Given the description of an element on the screen output the (x, y) to click on. 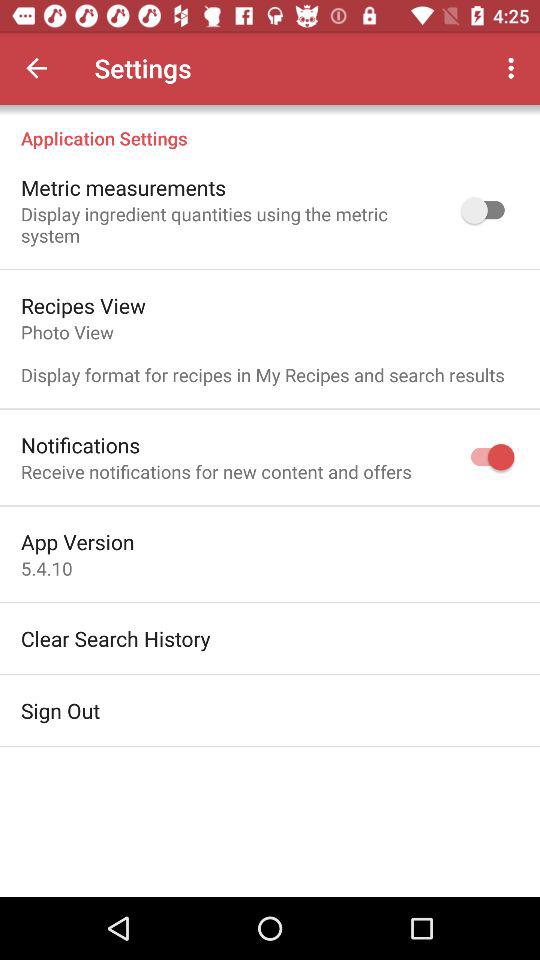
press app version (77, 541)
